Given the description of an element on the screen output the (x, y) to click on. 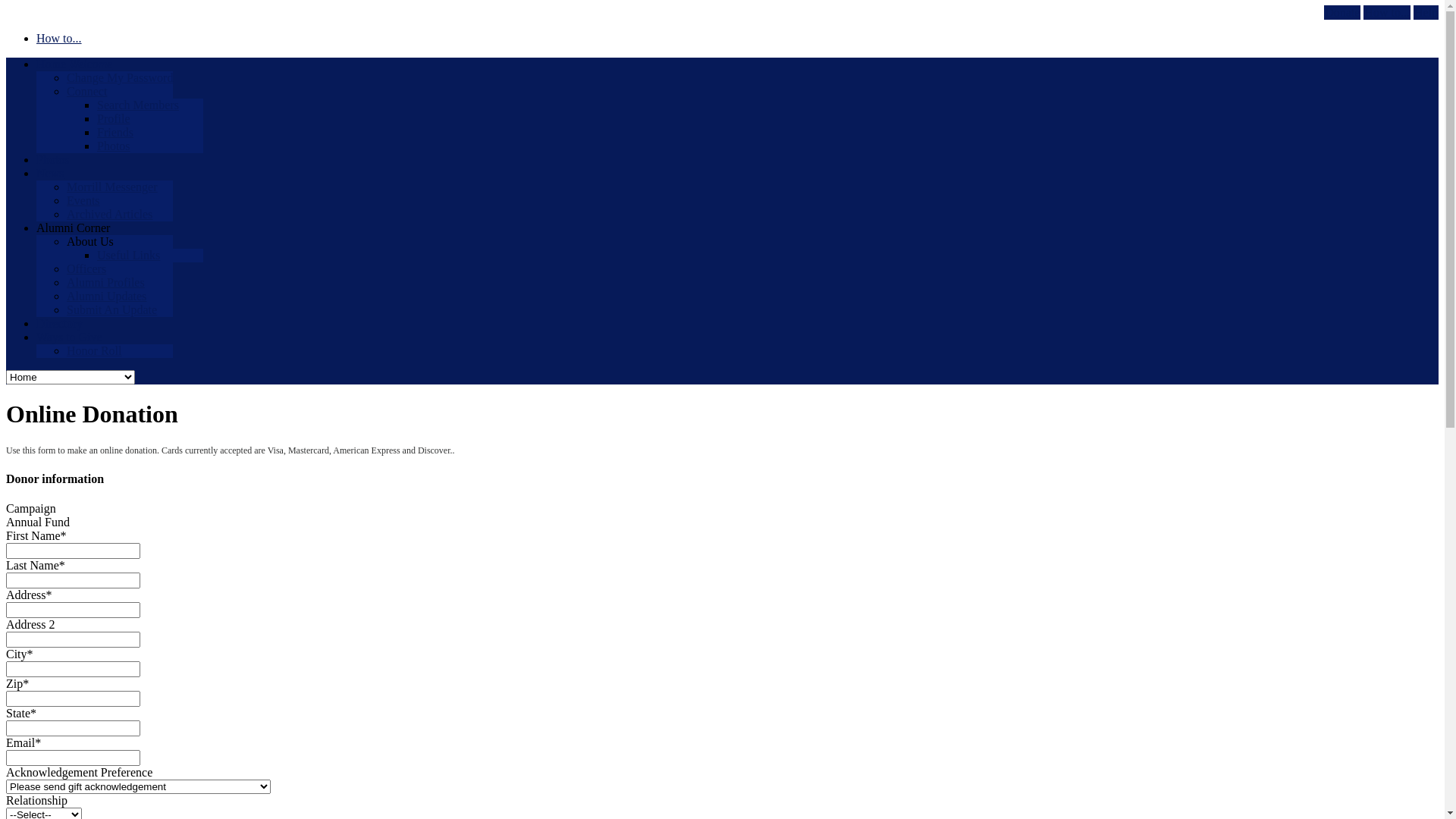
Donate Element type: text (1342, 12)
Morrill Messenger Element type: text (111, 186)
Useful Links Element type: text (128, 254)
Alumni Profiles Element type: text (105, 282)
Officers Element type: text (86, 268)
Home Welcome Element type: text (74, 63)
Change My Password Element type: text (119, 77)
Help Element type: text (1425, 12)
How to... Element type: text (1386, 12)
Photos Element type: text (113, 145)
Connect Element type: text (86, 90)
Profile Element type: text (113, 118)
Events Element type: text (83, 200)
Friends Element type: text (115, 131)
Directory Element type: text (59, 322)
News Element type: text (49, 172)
Submit An Update Element type: text (111, 309)
Archived Articles Element type: text (109, 213)
Ways to Give Element type: text (69, 336)
How to... Element type: text (58, 37)
Search Members Element type: text (137, 104)
Alumni Updates Element type: text (106, 295)
Photos Element type: text (52, 159)
Honor Roll Element type: text (93, 350)
